Given the description of an element on the screen output the (x, y) to click on. 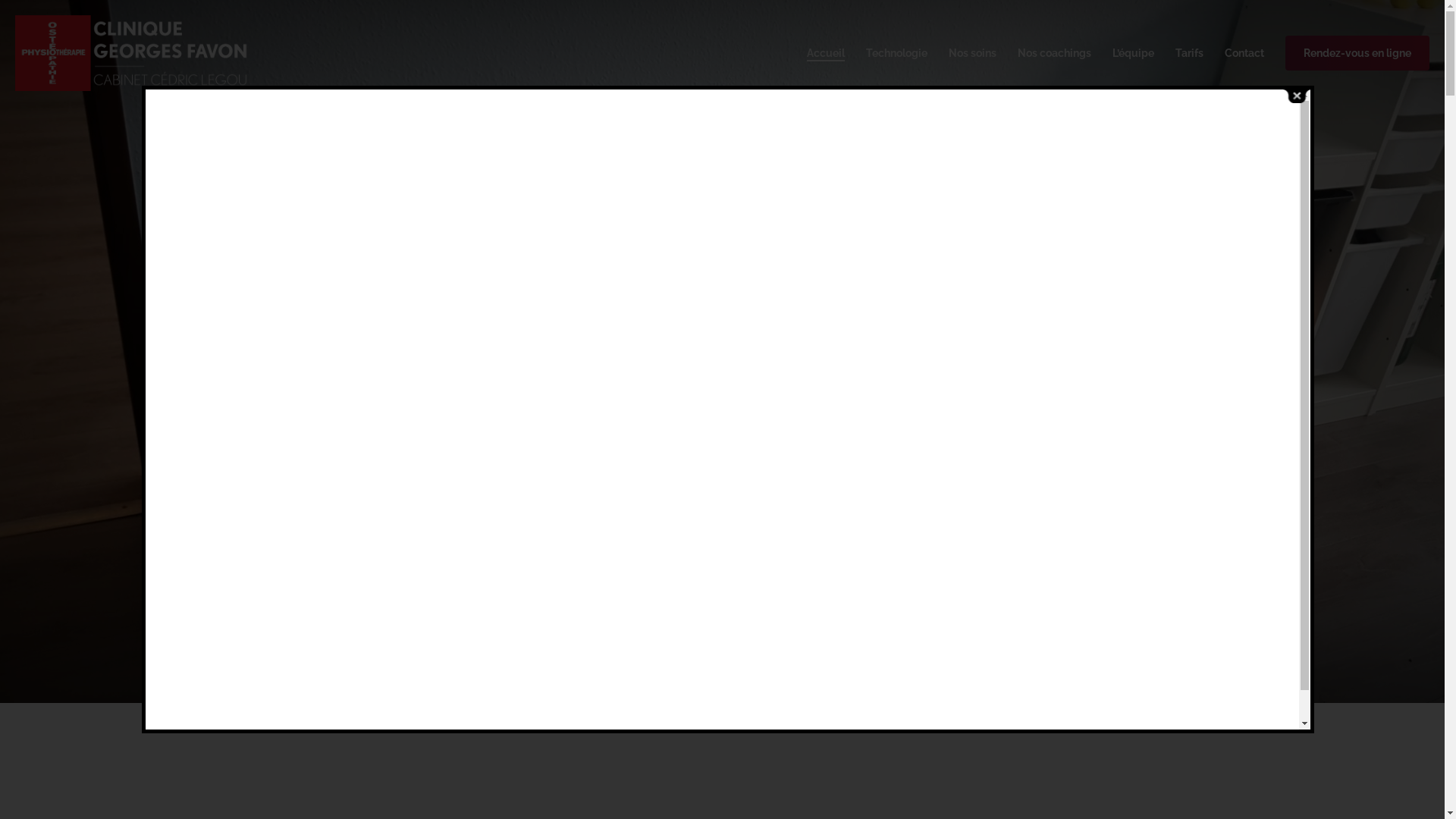
Tarifs Element type: text (1189, 52)
Nos soins Element type: text (972, 52)
Contact Element type: text (1244, 52)
Technologie Element type: text (896, 52)
Nos coachings Element type: text (1054, 52)
Rendez-vous en ligne Element type: text (1357, 52)
Accueil Element type: text (825, 52)
